Given the description of an element on the screen output the (x, y) to click on. 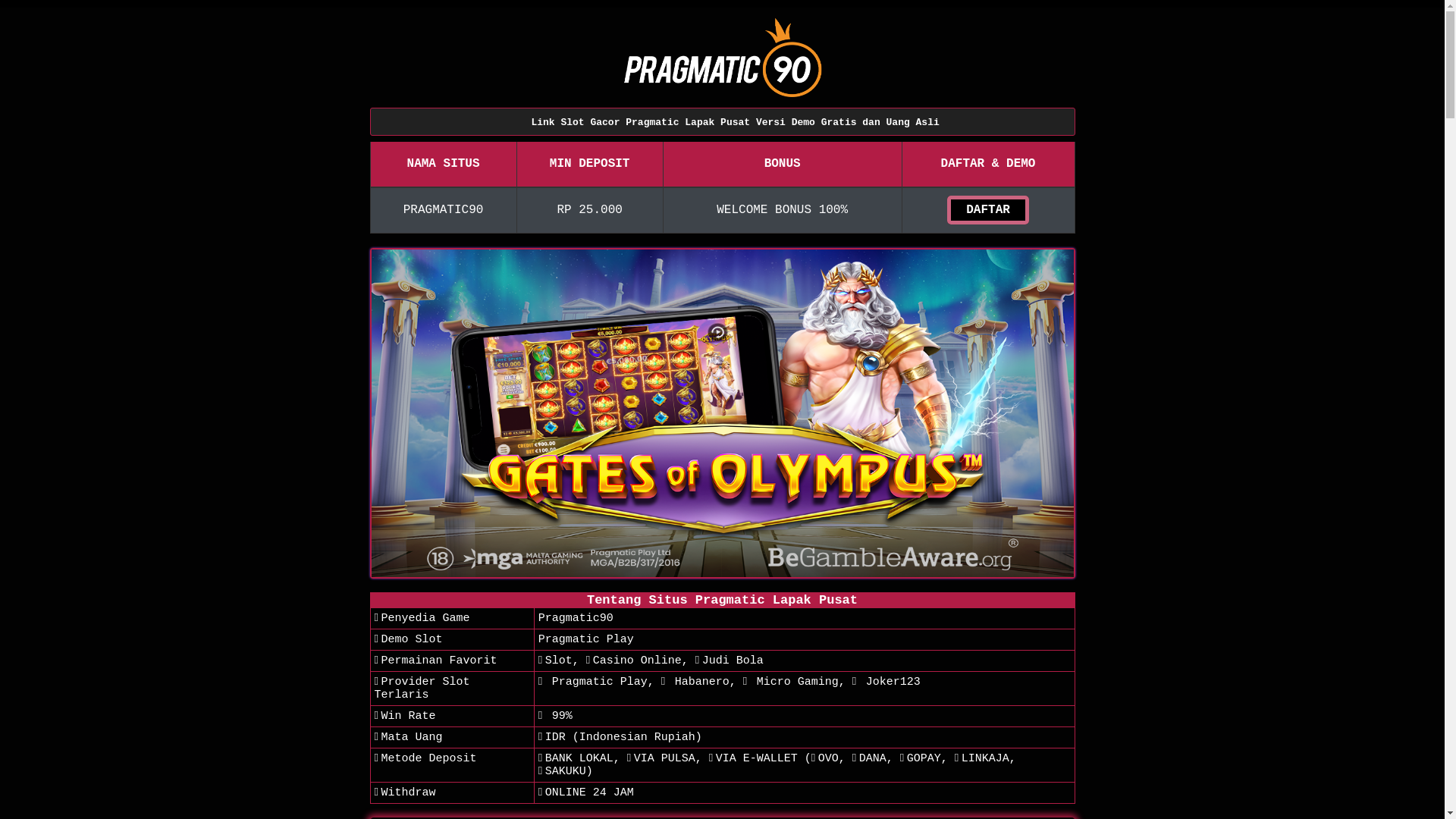
DAFTAR Element type: text (988, 209)
Slot Demo Pragmatic Element type: hover (722, 413)
